Given the description of an element on the screen output the (x, y) to click on. 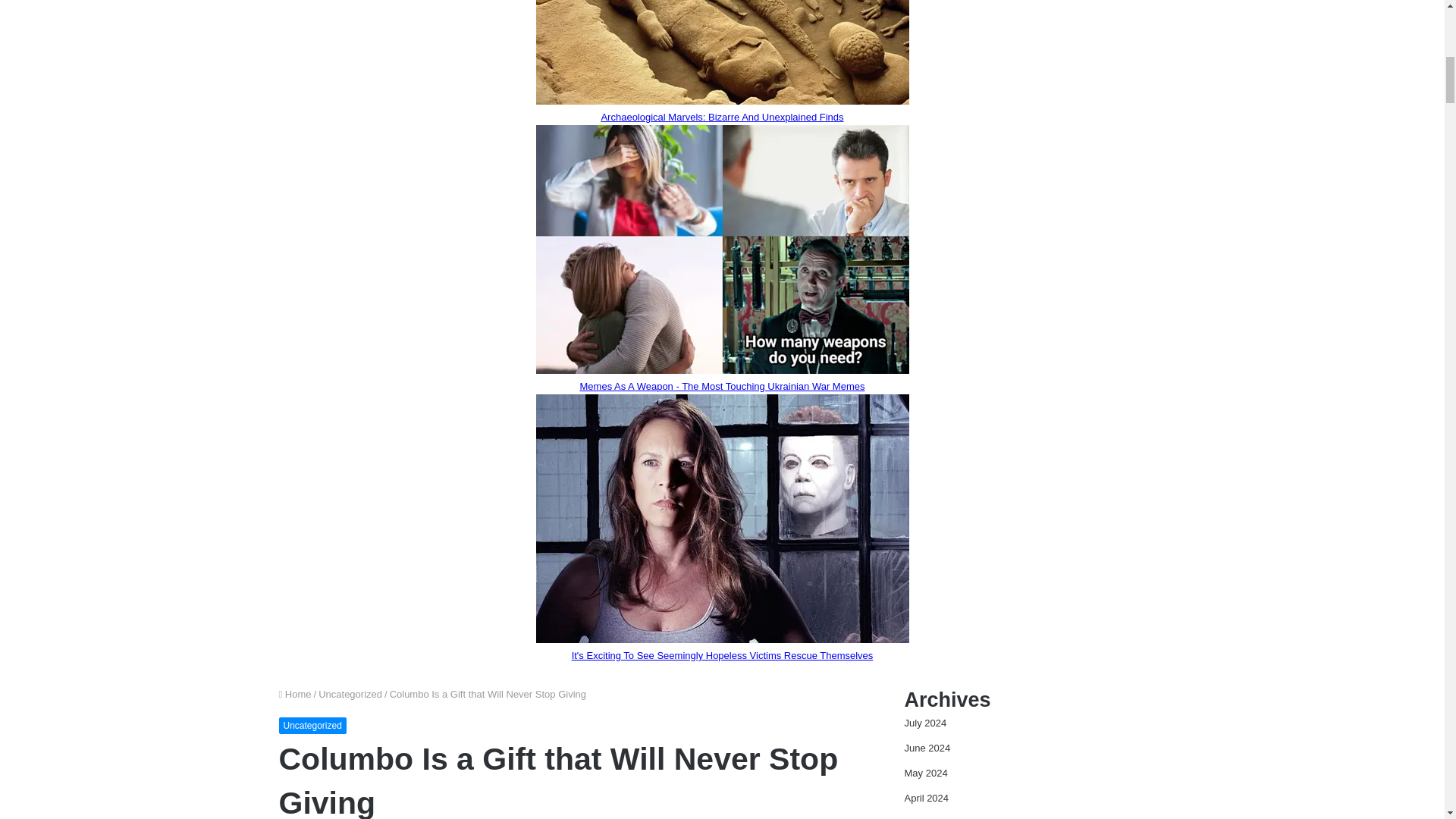
Uncategorized (312, 725)
Uncategorized (349, 694)
Home (295, 694)
